Given the description of an element on the screen output the (x, y) to click on. 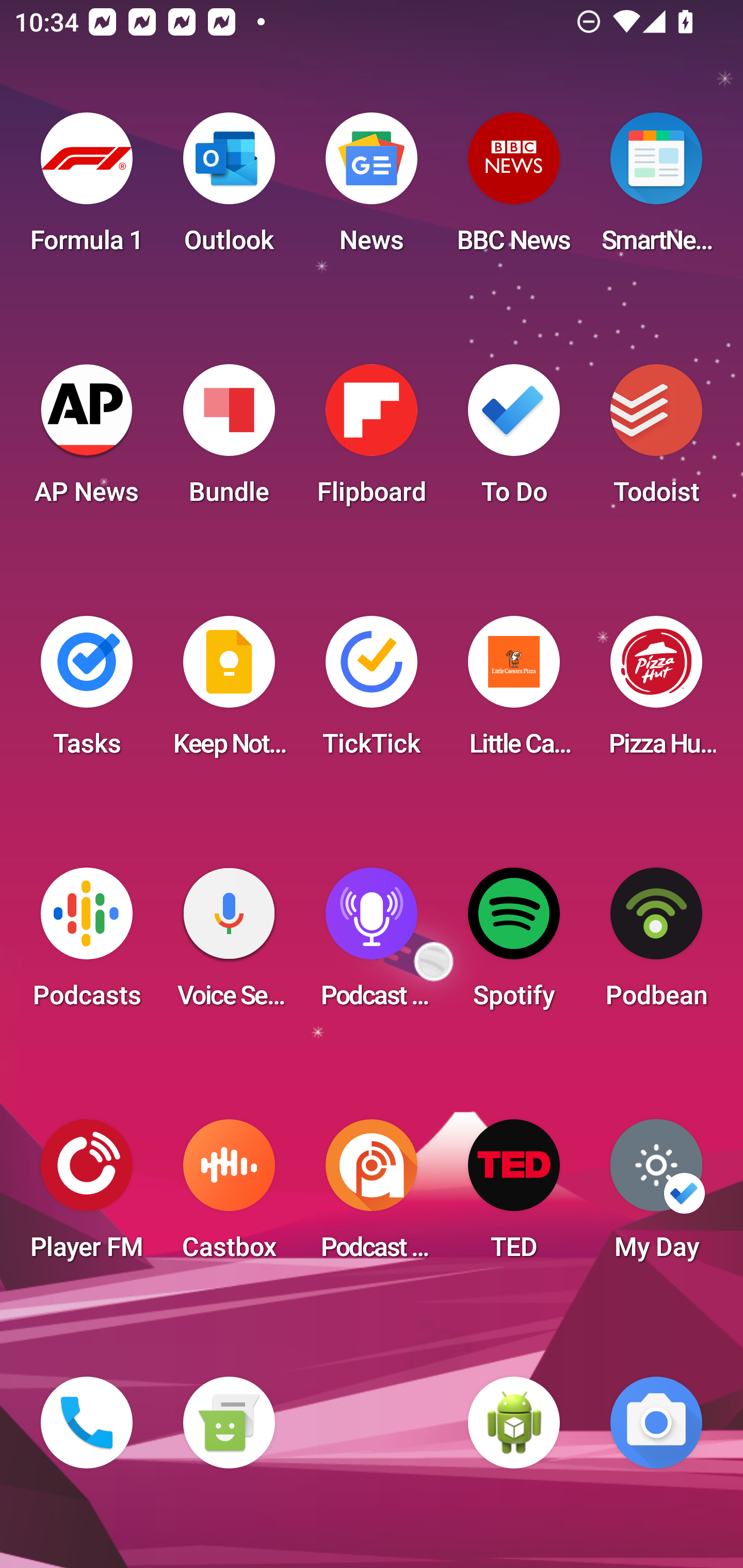
Formula 1 (86, 188)
Outlook (228, 188)
News (371, 188)
BBC News (513, 188)
SmartNews (656, 188)
AP News (86, 440)
Bundle (228, 440)
Flipboard (371, 440)
To Do (513, 440)
Todoist (656, 440)
Tasks (86, 692)
Keep Notes (228, 692)
TickTick (371, 692)
Little Caesars Pizza (513, 692)
Pizza Hut HK & Macau (656, 692)
Podcasts (86, 943)
Voice Search (228, 943)
Podcast Player (371, 943)
Spotify (513, 943)
Podbean (656, 943)
Player FM (86, 1195)
Castbox (228, 1195)
Podcast Addict (371, 1195)
TED (513, 1195)
My Day (656, 1195)
Phone (86, 1422)
Messaging (228, 1422)
WebView Browser Tester (513, 1422)
Camera (656, 1422)
